Given the description of an element on the screen output the (x, y) to click on. 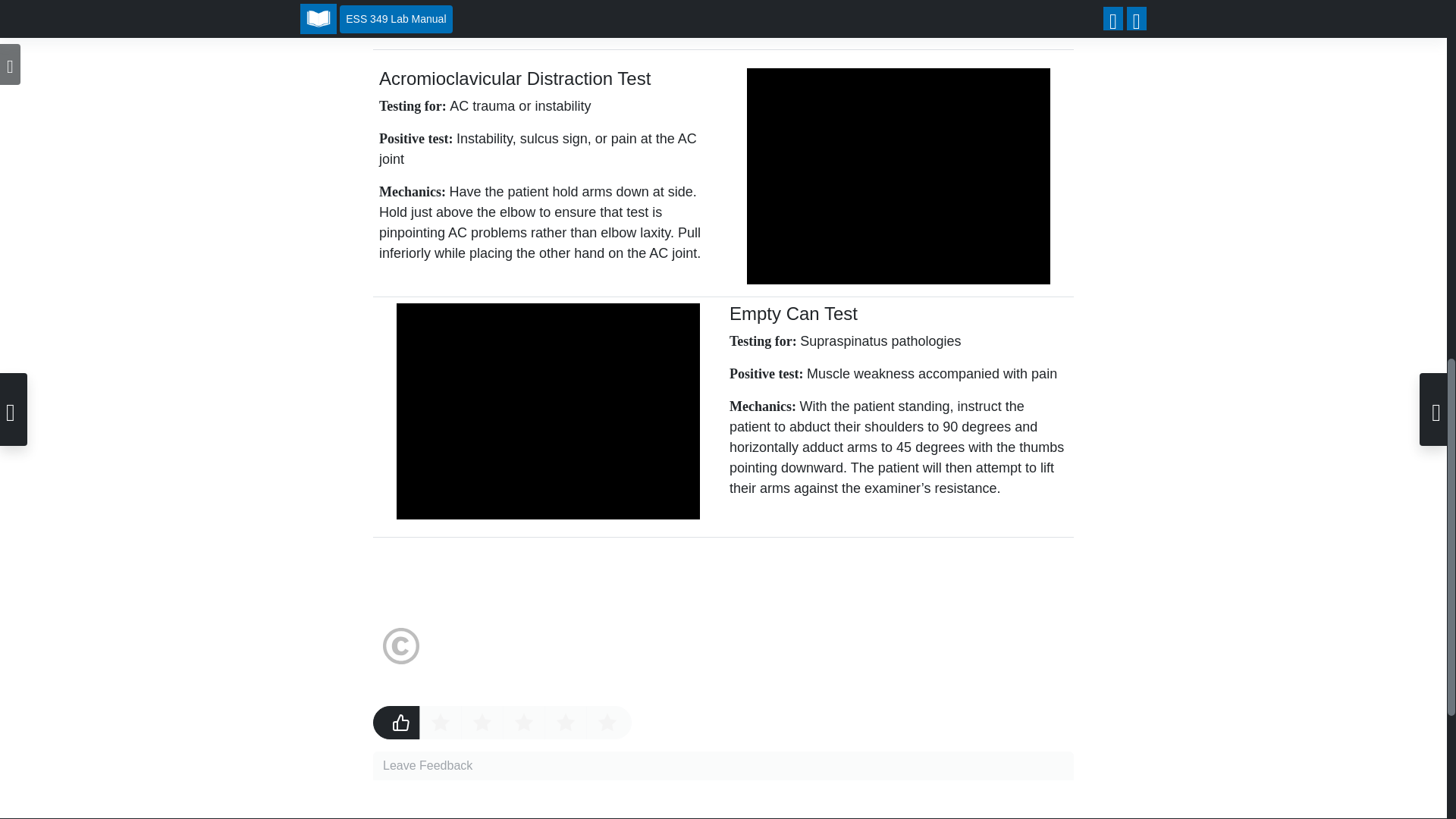
Empty Can Test - Supraspinatus Pathologies - Shoulder (548, 411)
